Given the description of an element on the screen output the (x, y) to click on. 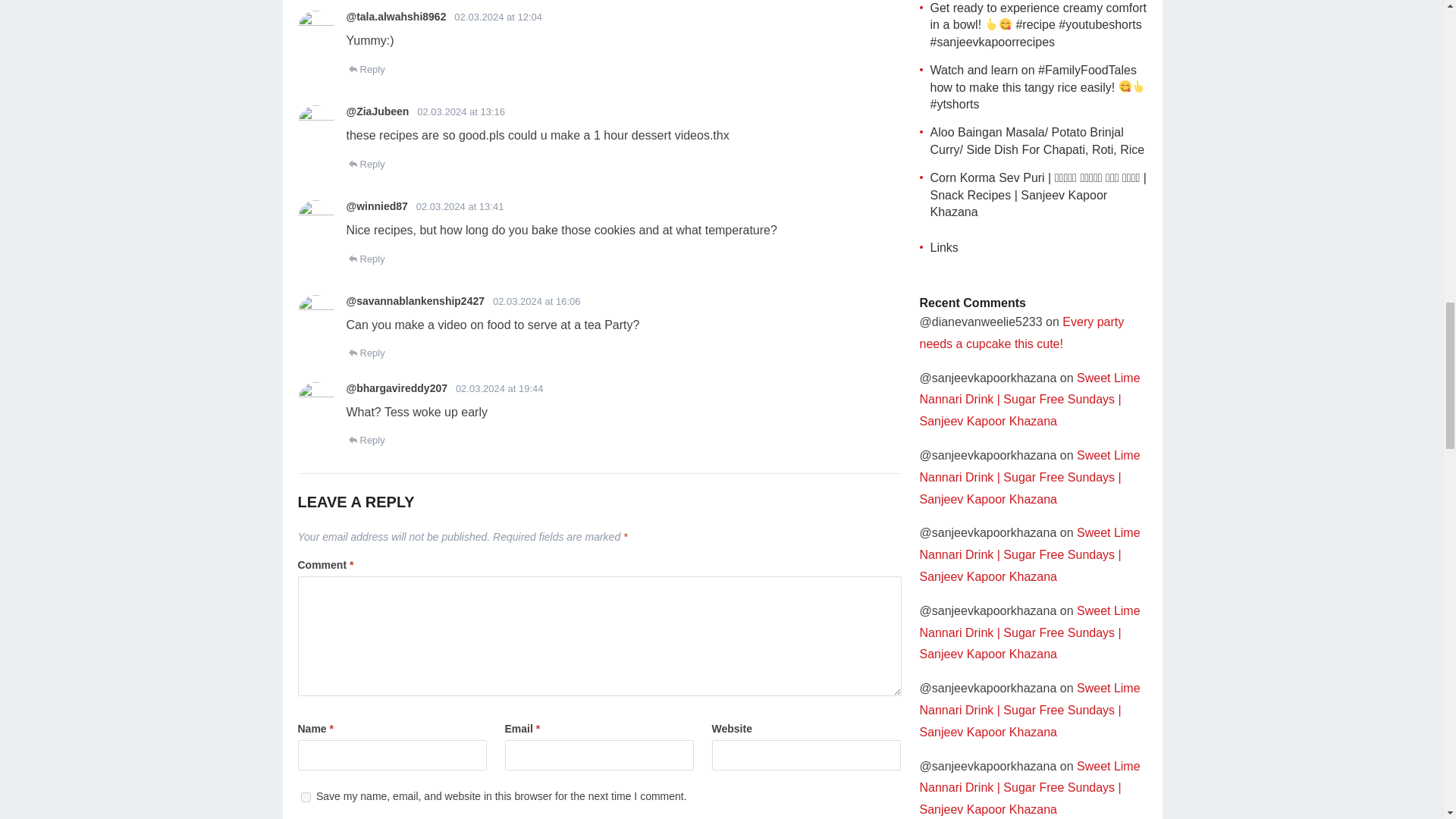
yes (304, 796)
